Given the description of an element on the screen output the (x, y) to click on. 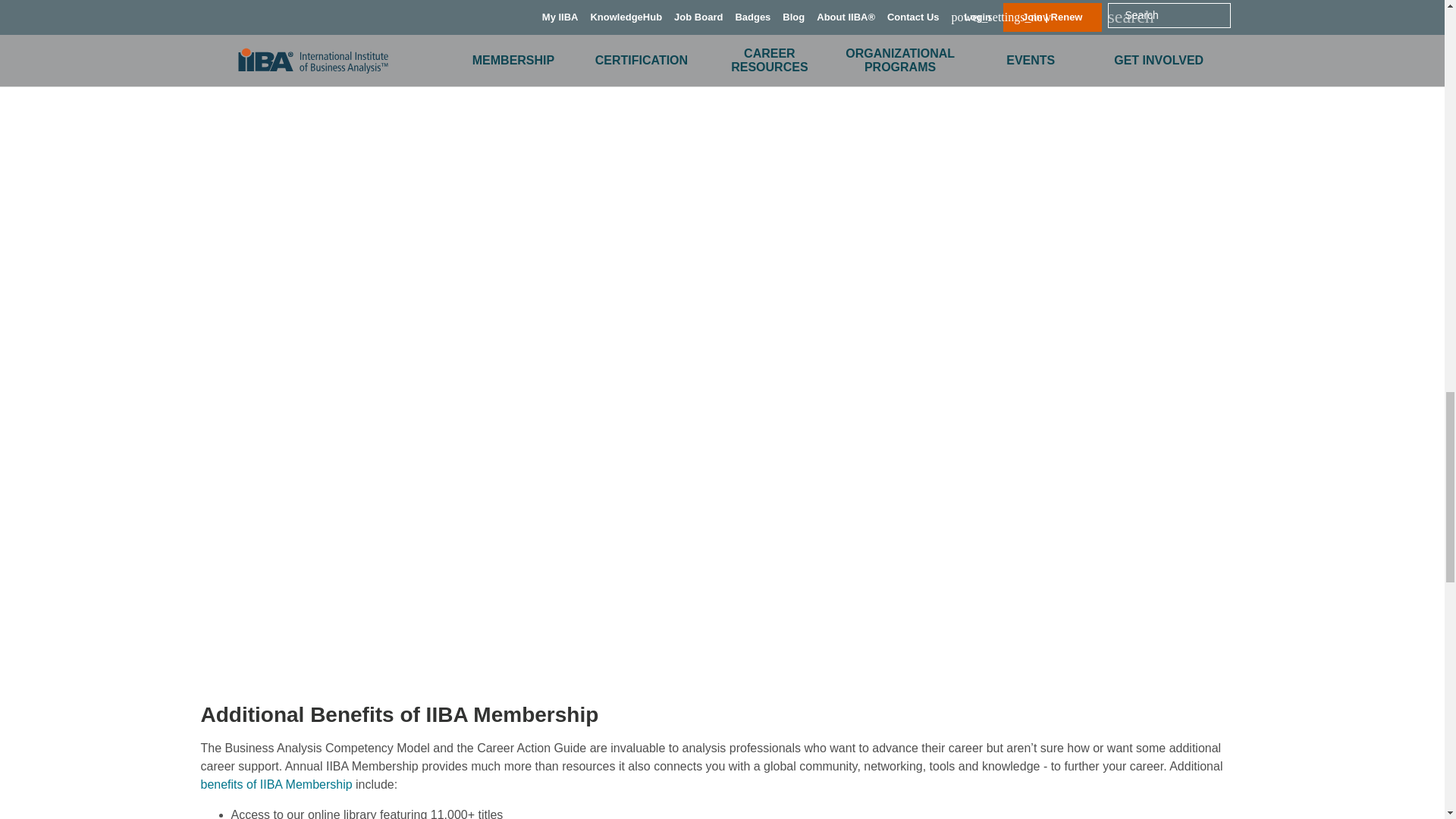
benefits of IIBA Membership (276, 784)
